Given the description of an element on the screen output the (x, y) to click on. 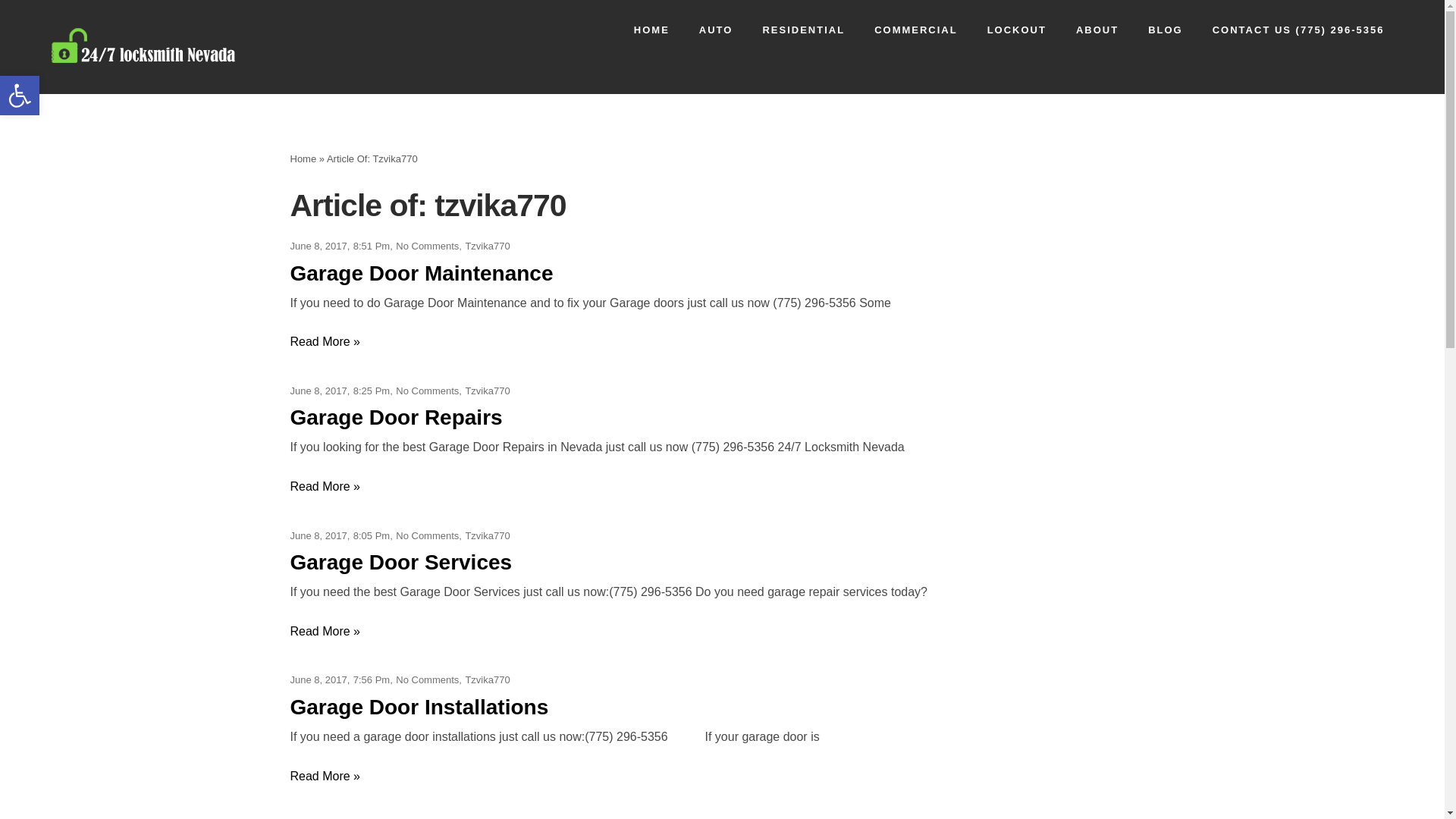
Tzvika770 Element type: text (486, 390)
ABOUT Element type: text (1096, 30)
Garage Door Services Element type: text (400, 562)
HOME Element type: text (651, 30)
No Comments Element type: text (426, 679)
Open toolbar Element type: text (19, 95)
LOCKOUT Element type: text (1016, 30)
CONTACT US (775) 296-5356 Element type: text (1298, 30)
No Comments Element type: text (426, 535)
Garage Door Installations Element type: text (418, 706)
No Comments Element type: text (426, 245)
Garage Door Maintenance Element type: text (420, 273)
Home Element type: text (302, 158)
COMMERCIAL Element type: text (915, 30)
AUTO Element type: text (715, 30)
Tzvika770 Element type: text (486, 245)
Tzvika770 Element type: text (486, 535)
Garage Door Repairs Element type: text (395, 417)
RESIDENTIAL Element type: text (803, 30)
Tzvika770 Element type: text (486, 679)
No Comments Element type: text (426, 390)
BLOG Element type: text (1165, 30)
